Given the description of an element on the screen output the (x, y) to click on. 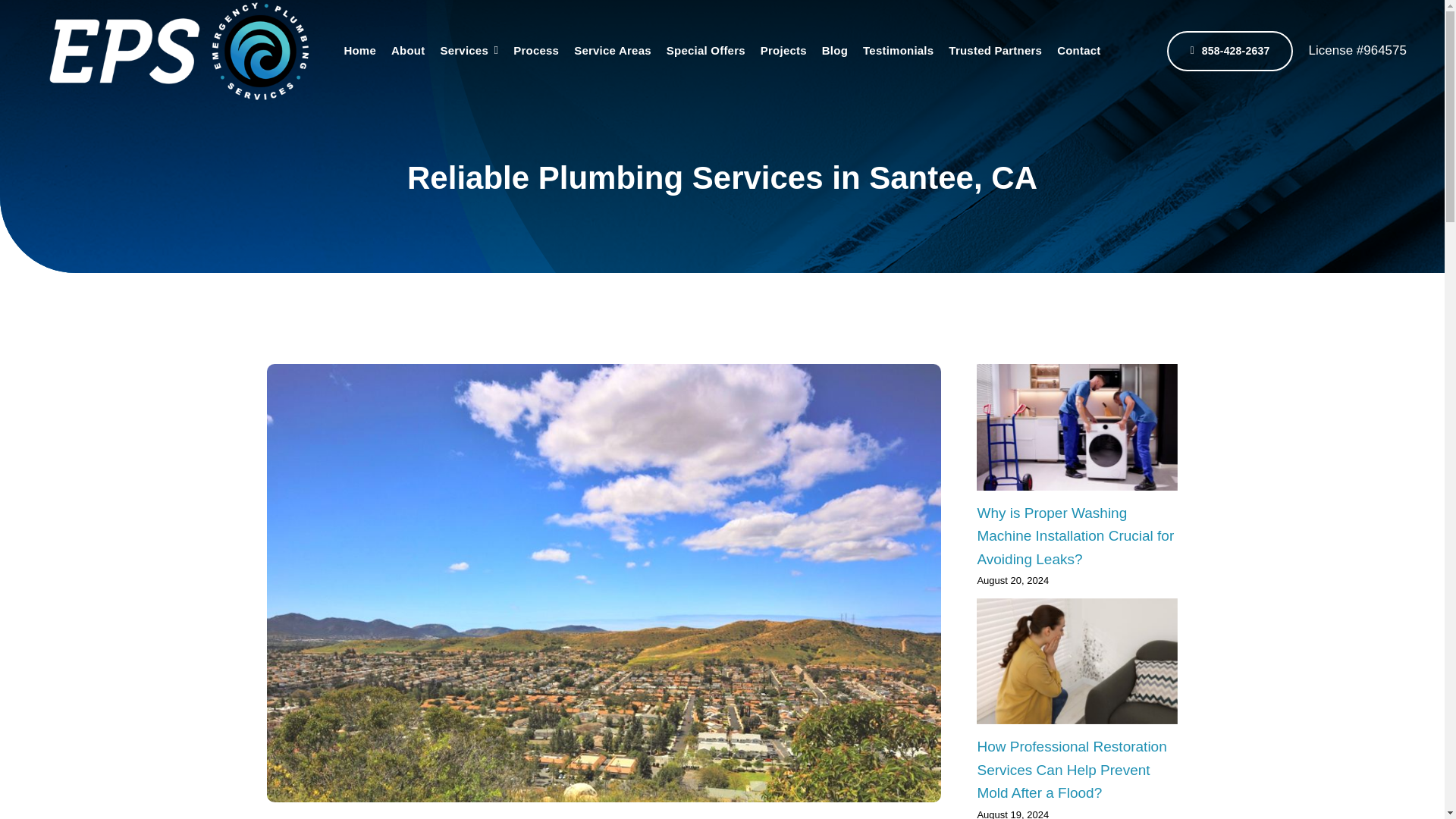
Process (536, 51)
Services (468, 51)
About (408, 51)
Home (359, 51)
